Given the description of an element on the screen output the (x, y) to click on. 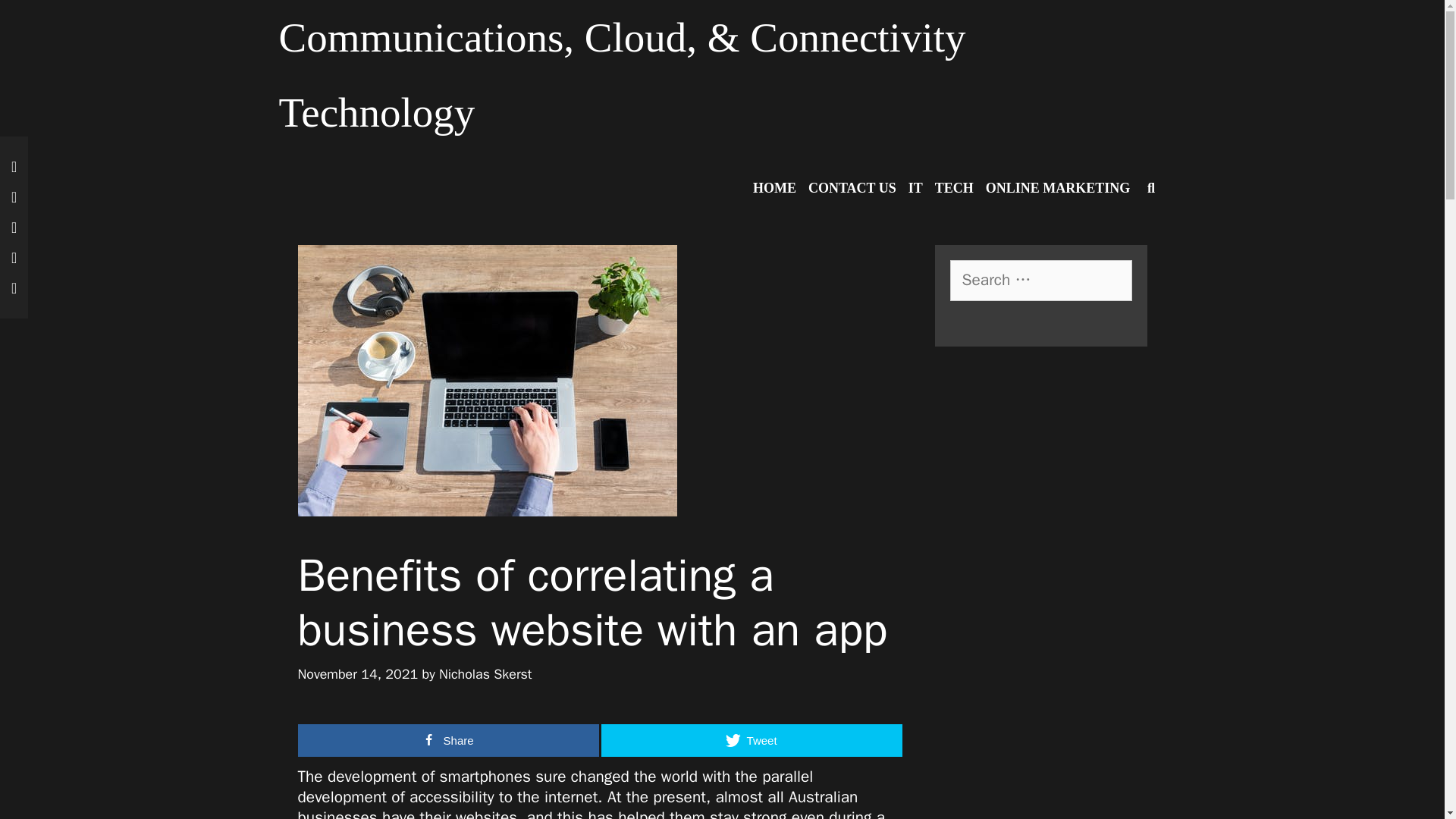
Search (209, 38)
Search (34, 18)
November 14, 2021 (357, 673)
Share (447, 739)
CONTACT US (852, 187)
Tweet (750, 739)
Nicholas Skerst (485, 673)
ONLINE MARKETING (1058, 187)
1:11 pm (357, 673)
View all posts by Nicholas Skerst (485, 673)
Search for: (1040, 280)
